Given the description of an element on the screen output the (x, y) to click on. 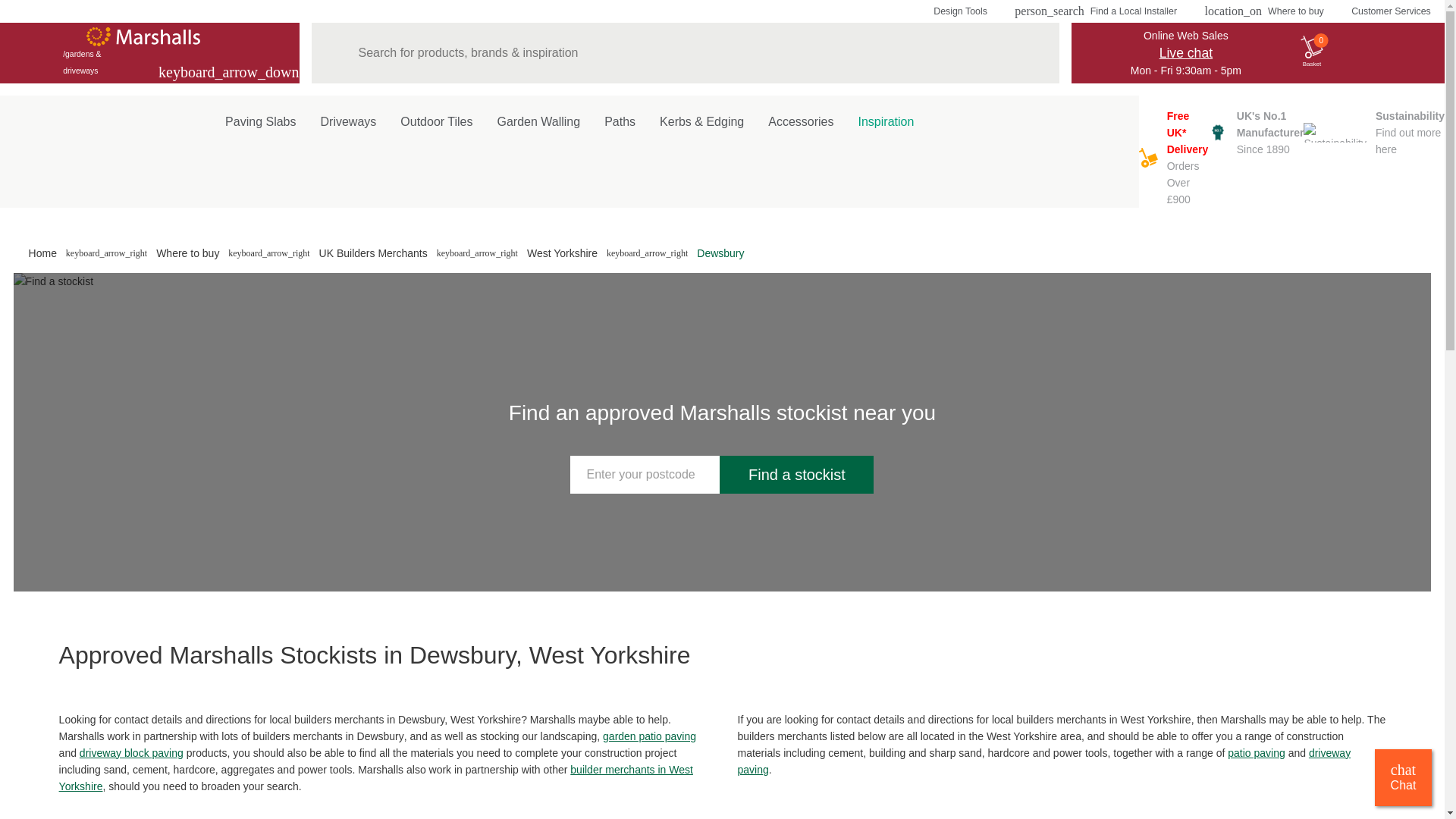
Where to buy (1263, 11)
Paving Slabs (259, 118)
Customer Services (1390, 11)
Find a Local Installer (1095, 11)
View the Marshalls Driveway block paving range (1043, 760)
View the Marshalls Driveway paving range (131, 752)
Design Tools (1255, 132)
